Given the description of an element on the screen output the (x, y) to click on. 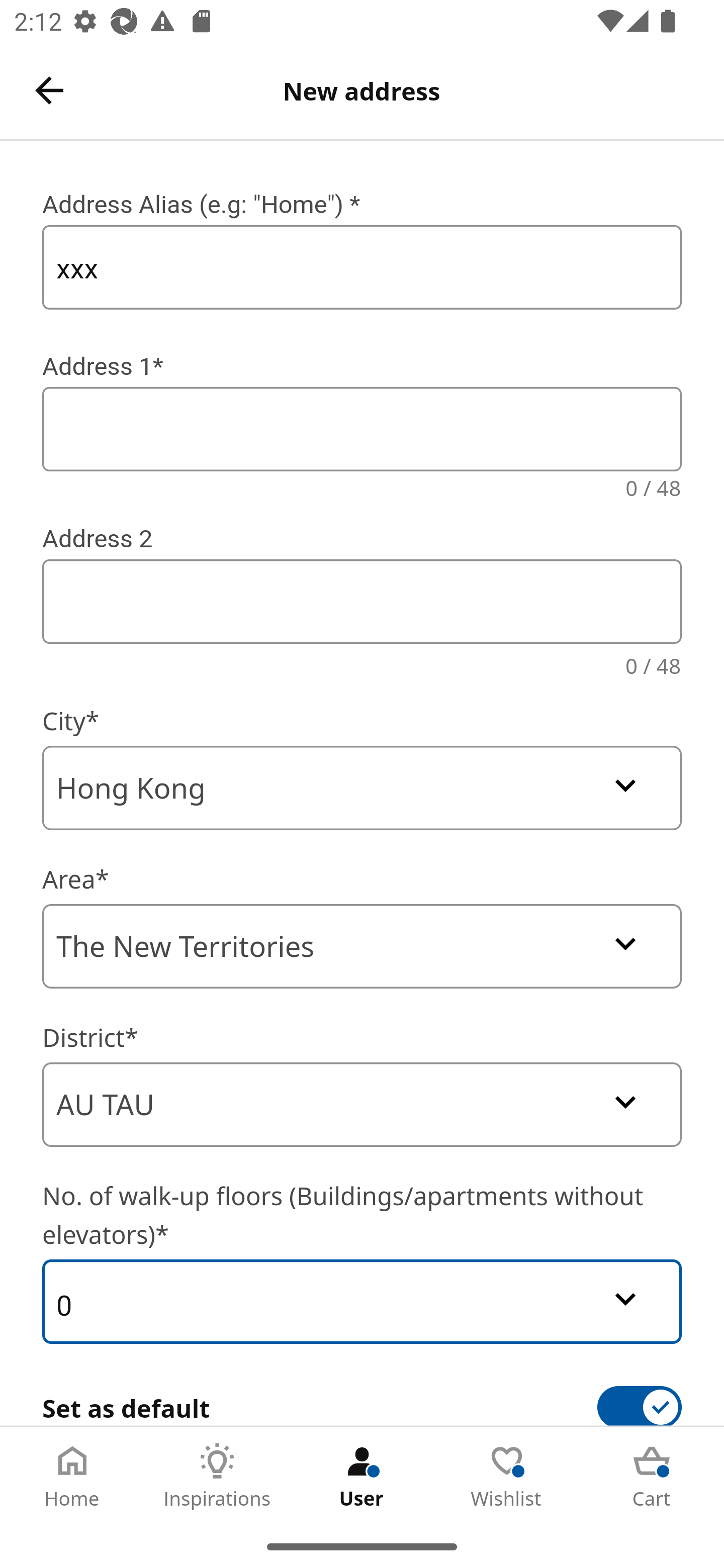
xxx (361, 266)
Hong Kong (361, 787)
The New Territories (361, 945)
AU TAU (361, 1104)
0 (361, 1301)
Home
Tab 1 of 5 (72, 1476)
Inspirations
Tab 2 of 5 (216, 1476)
User
Tab 3 of 5 (361, 1476)
Wishlist
Tab 4 of 5 (506, 1476)
Cart
Tab 5 of 5 (651, 1476)
